Given the description of an element on the screen output the (x, y) to click on. 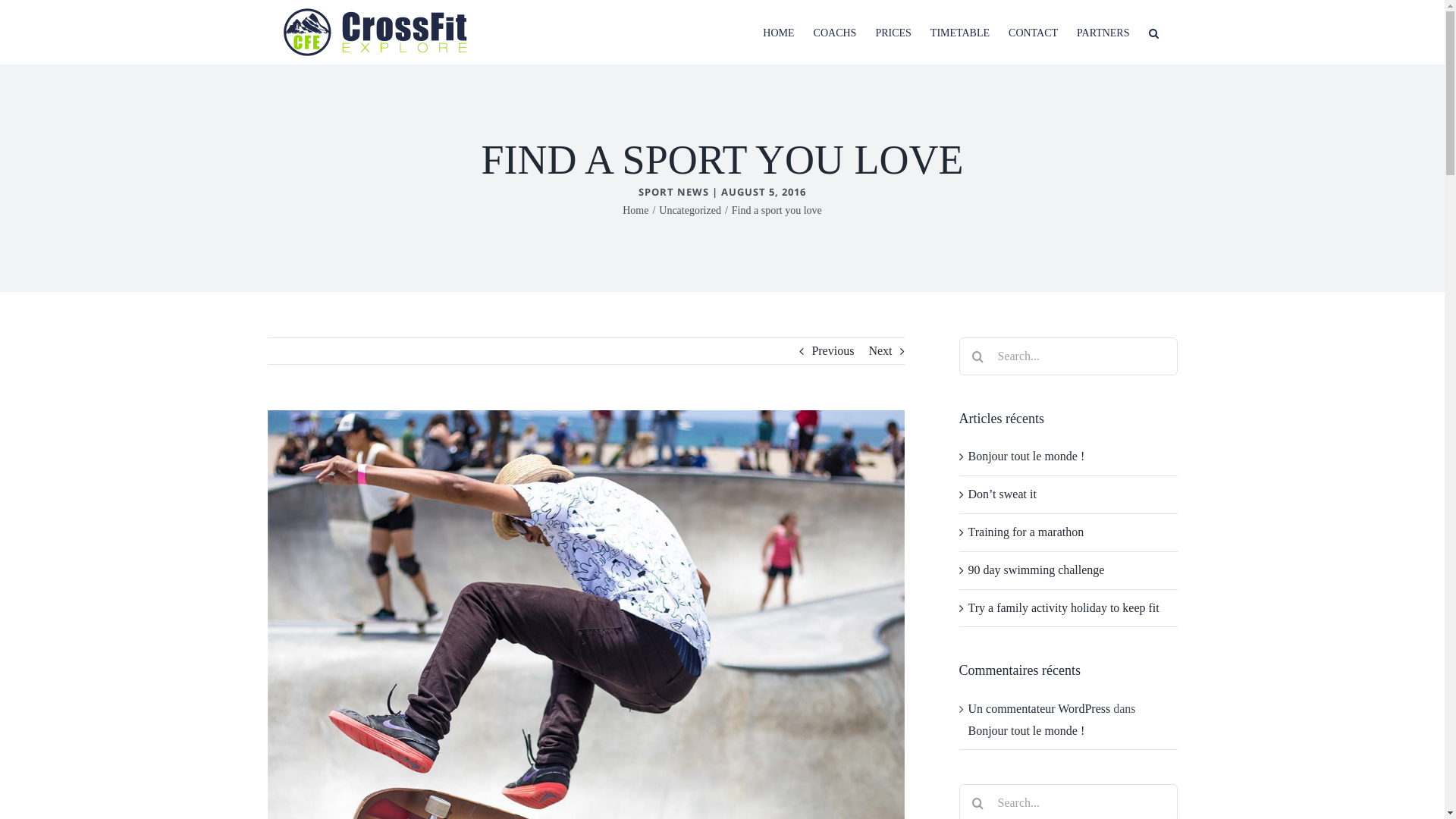
PRICES Element type: text (892, 31)
HOME Element type: text (777, 31)
Un commentateur WordPress Element type: text (1038, 708)
Previous Element type: text (832, 351)
Uncategorized Element type: text (689, 210)
Home Element type: text (635, 210)
90 day swimming challenge Element type: text (1035, 569)
PARTNERS Element type: text (1102, 31)
Bonjour tout le monde ! Element type: text (1025, 730)
Search Element type: hover (1152, 31)
Try a family activity holiday to keep fit Element type: text (1062, 607)
COACHS Element type: text (834, 31)
Training for a marathon Element type: text (1025, 531)
Next Element type: text (879, 351)
TIMETABLE Element type: text (959, 31)
Bonjour tout le monde ! Element type: text (1025, 455)
CONTACT Element type: text (1032, 31)
